Given the description of an element on the screen output the (x, y) to click on. 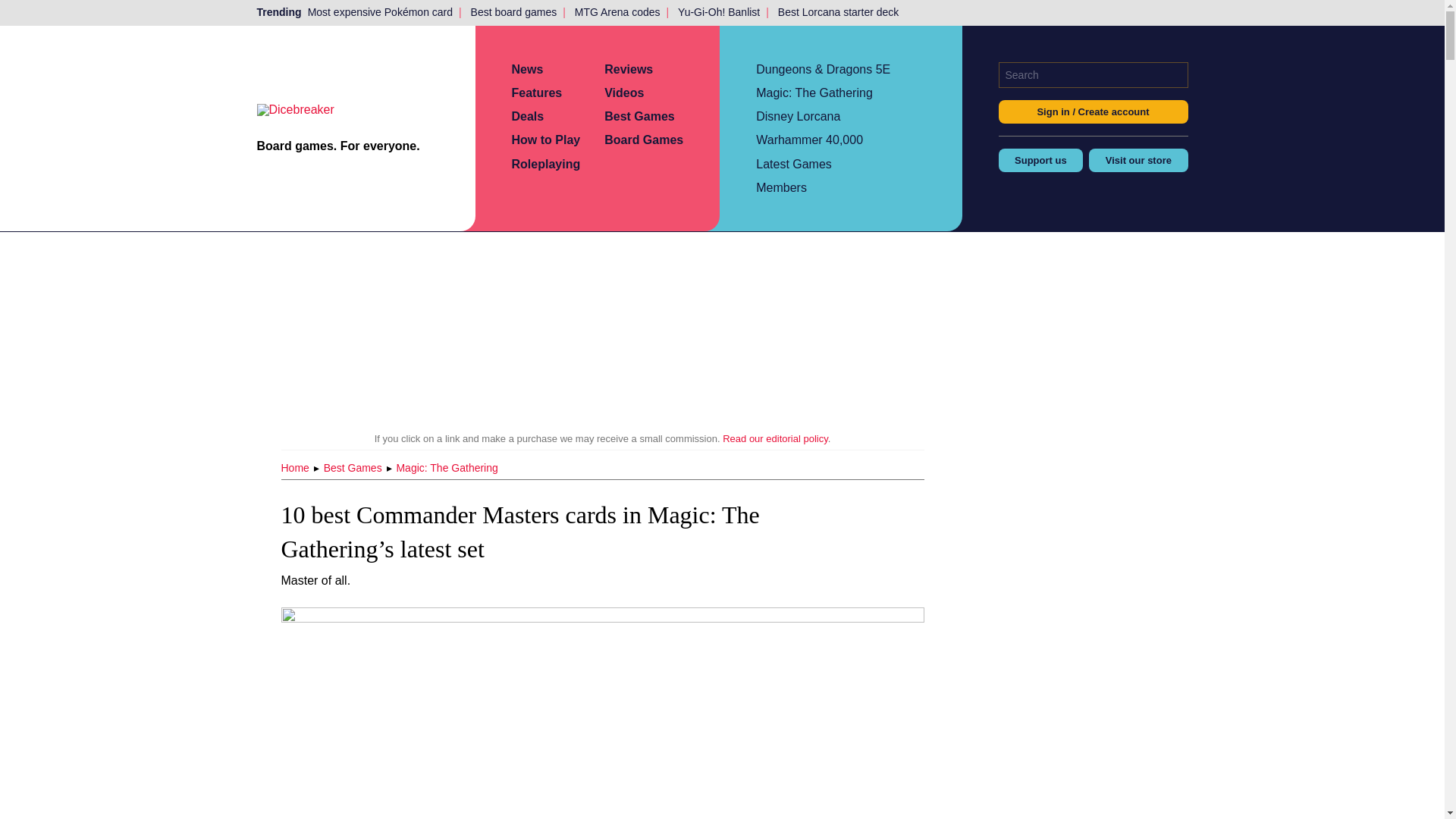
Features (536, 92)
Best Lorcana starter deck (838, 12)
Features (536, 92)
Latest Games (793, 164)
Read our editorial policy (775, 438)
News (527, 69)
Roleplaying (545, 164)
Reviews (628, 69)
Disney Lorcana (797, 115)
Roleplaying (545, 164)
Best Games (639, 115)
Deals (527, 115)
Best board games (513, 12)
Reviews (628, 69)
Deals (527, 115)
